Given the description of an element on the screen output the (x, y) to click on. 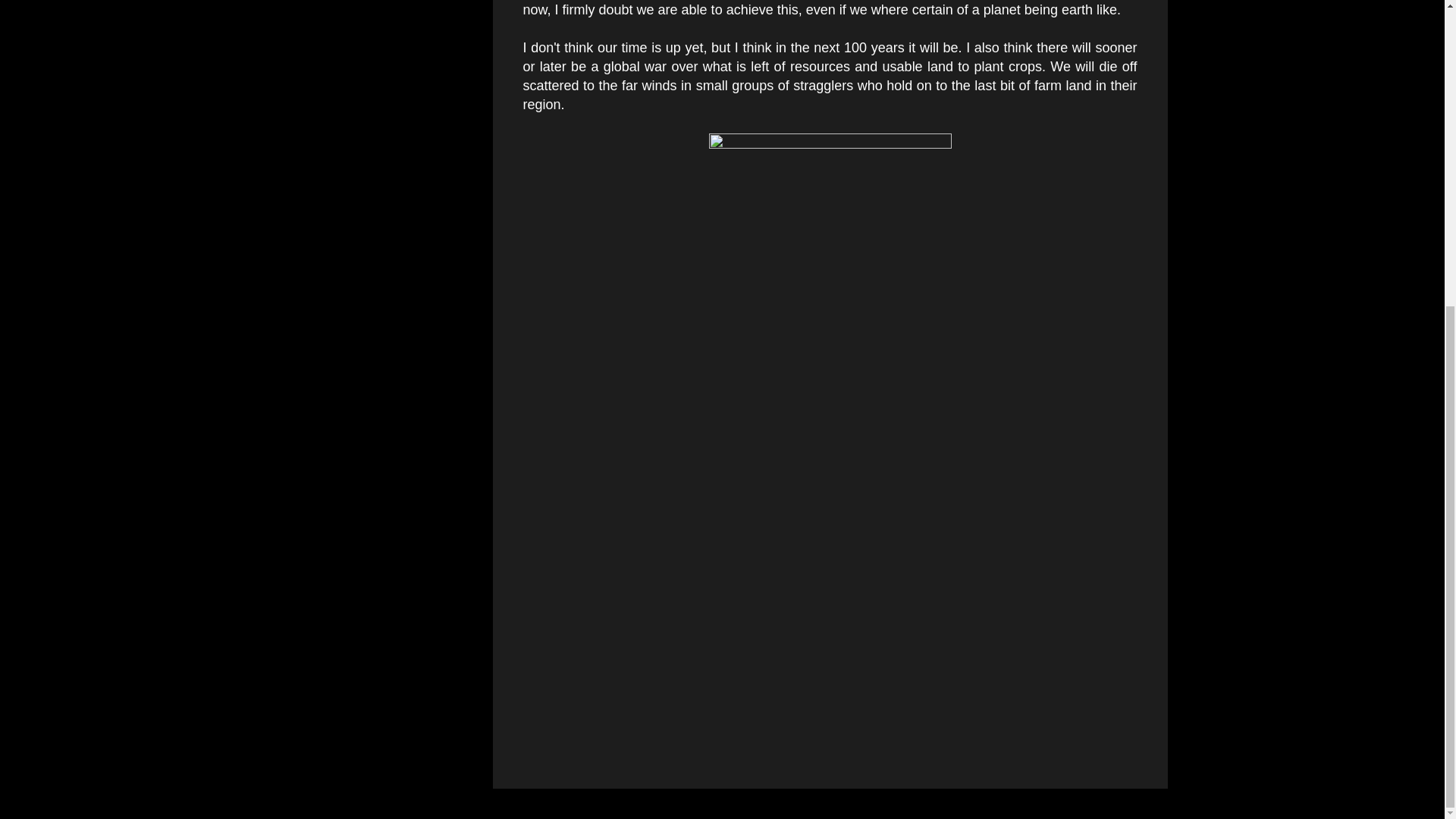
Email Post (562, 395)
